Given the description of an element on the screen output the (x, y) to click on. 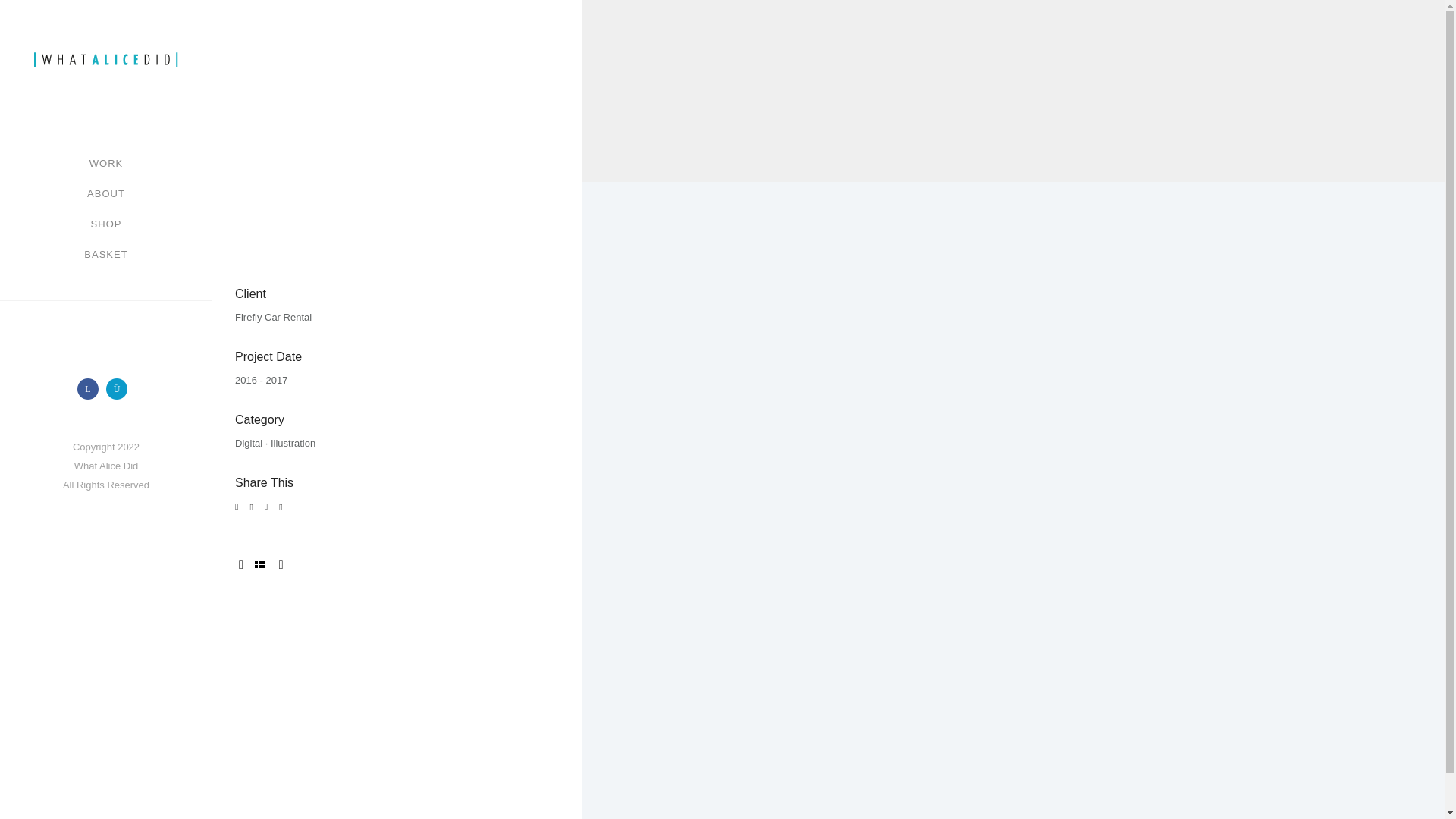
About (106, 194)
Work (105, 163)
BASKET (106, 254)
Shop (106, 224)
WORK (105, 163)
Illustration (292, 442)
Digital (248, 442)
SHOP (106, 224)
Basket (106, 254)
ABOUT (106, 194)
